Given the description of an element on the screen output the (x, y) to click on. 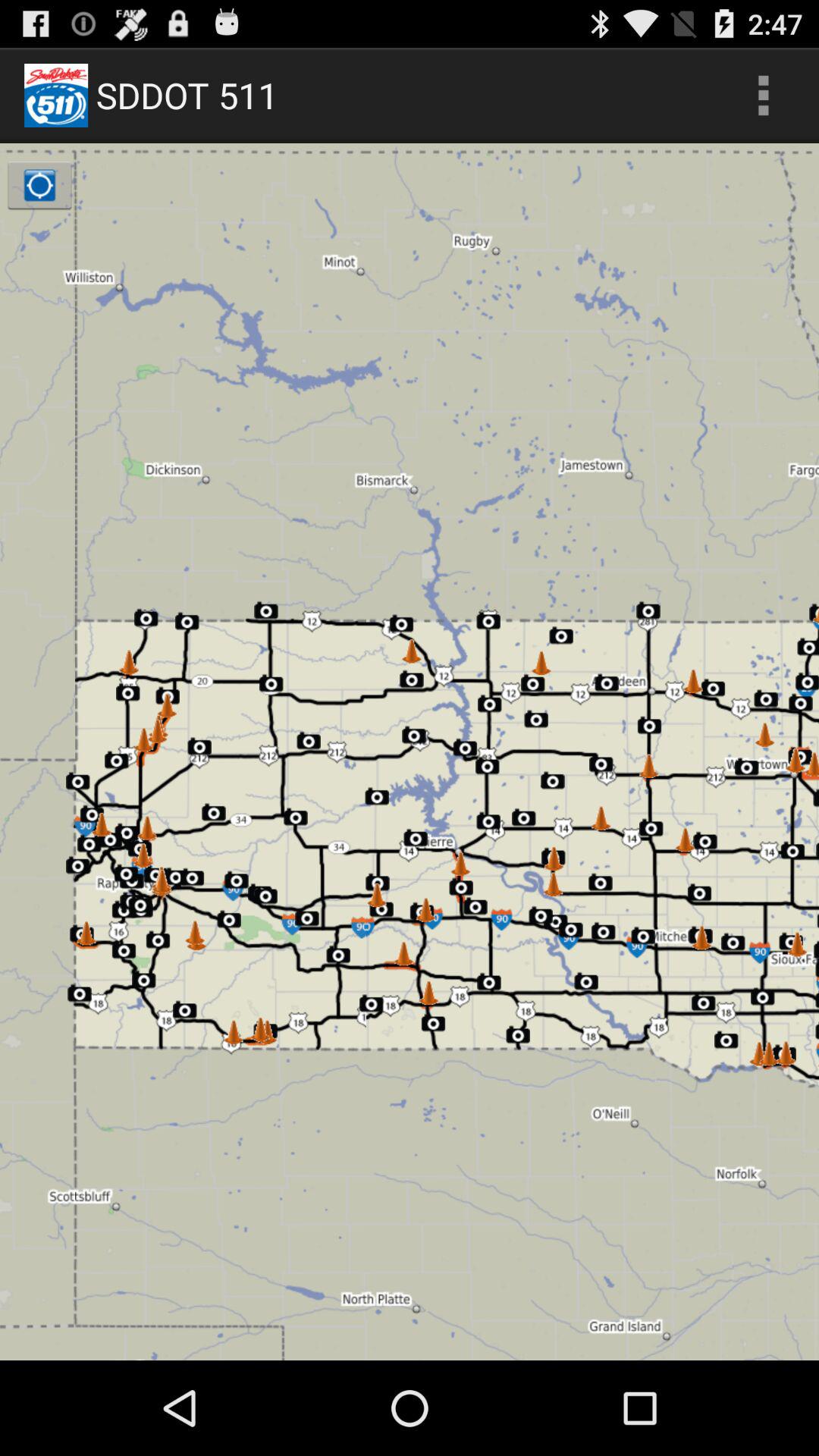
launch the item to the right of the sddot 511 (763, 95)
